Given the description of an element on the screen output the (x, y) to click on. 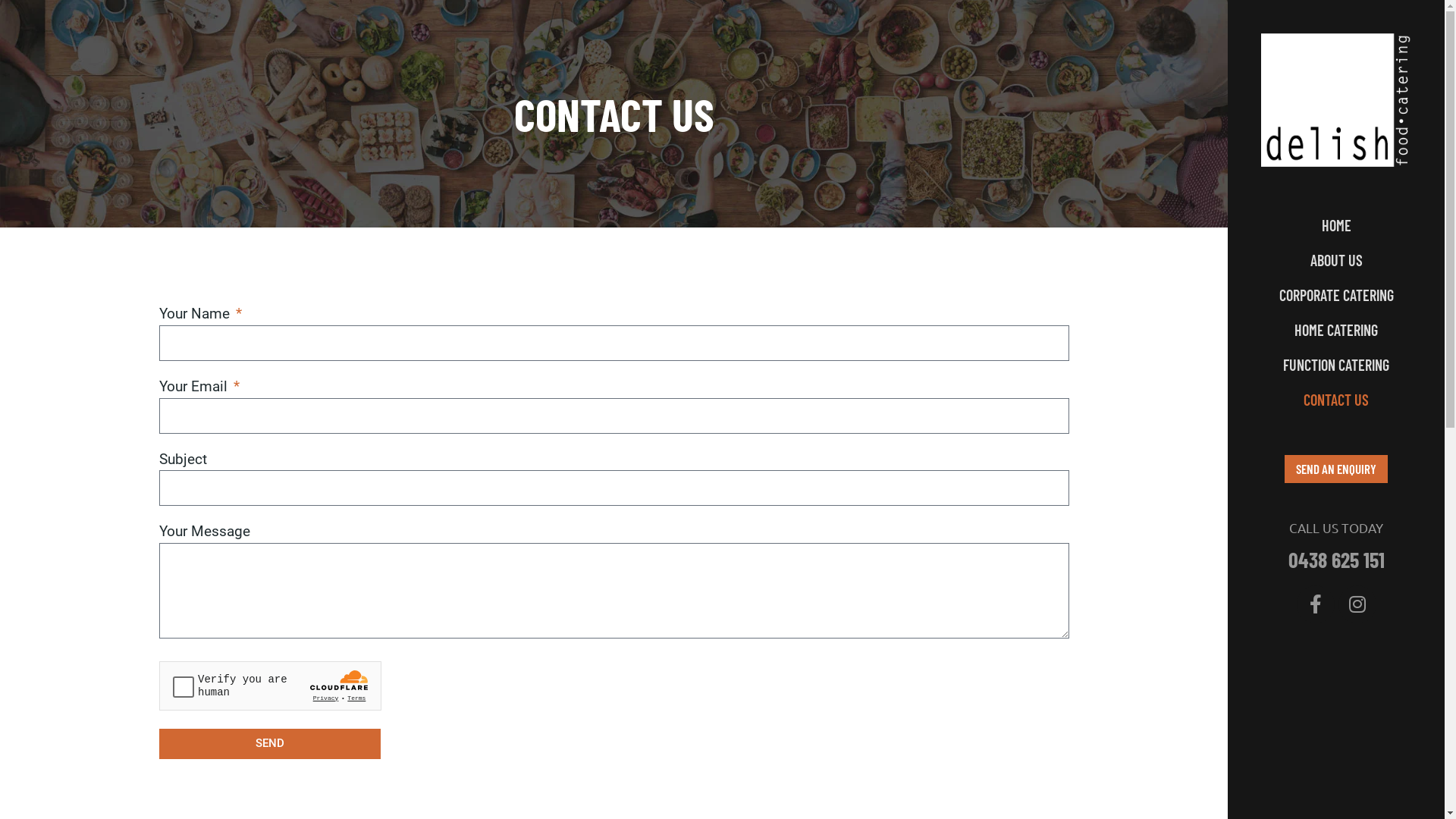
Widget containing a Cloudflare security challenge Element type: hover (270, 685)
0438 625 151 Element type: text (1336, 559)
CONTACT US Element type: text (1336, 399)
CORPORATE CATERING Element type: text (1336, 294)
SEND AN ENQUIRY Element type: text (1335, 469)
HOME Element type: text (1336, 224)
SEND Element type: text (270, 743)
ABOUT US Element type: text (1336, 259)
FUNCTION CATERING Element type: text (1336, 364)
HOME CATERING Element type: text (1336, 329)
